Given the description of an element on the screen output the (x, y) to click on. 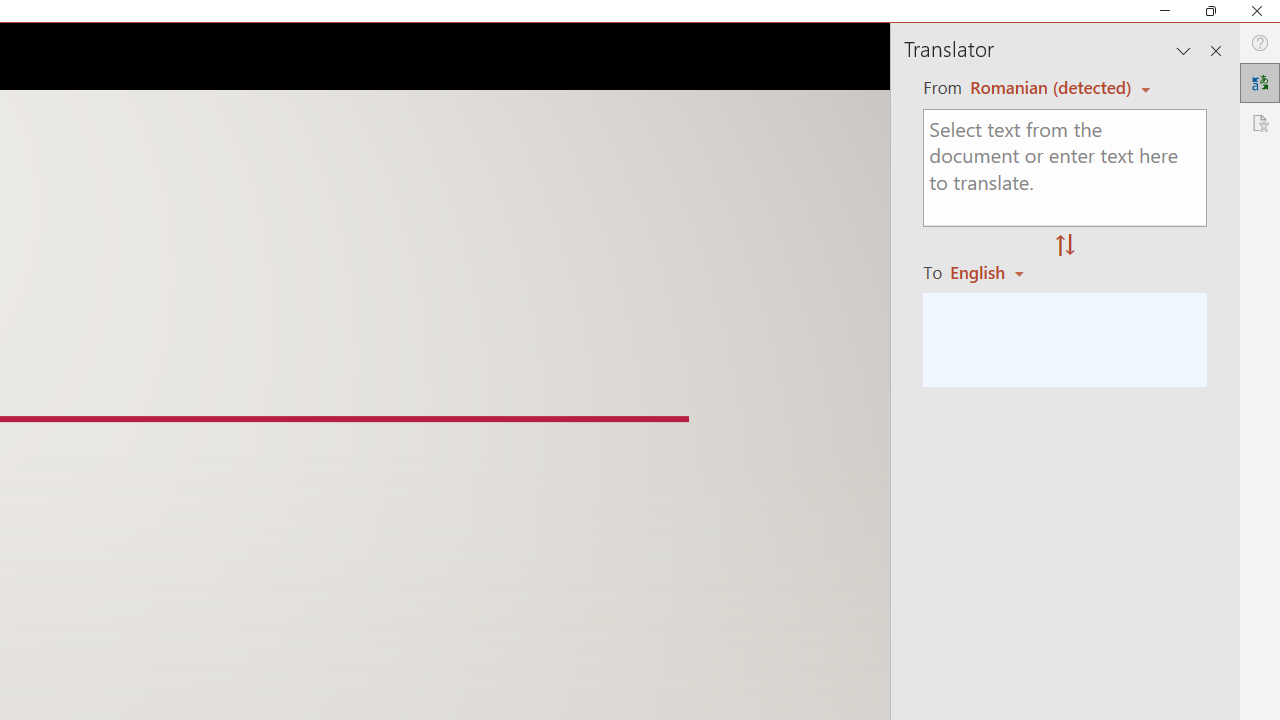
Romanian (detected) (1047, 87)
Swap "from" and "to" languages. (1065, 245)
Romanian (994, 272)
